Given the description of an element on the screen output the (x, y) to click on. 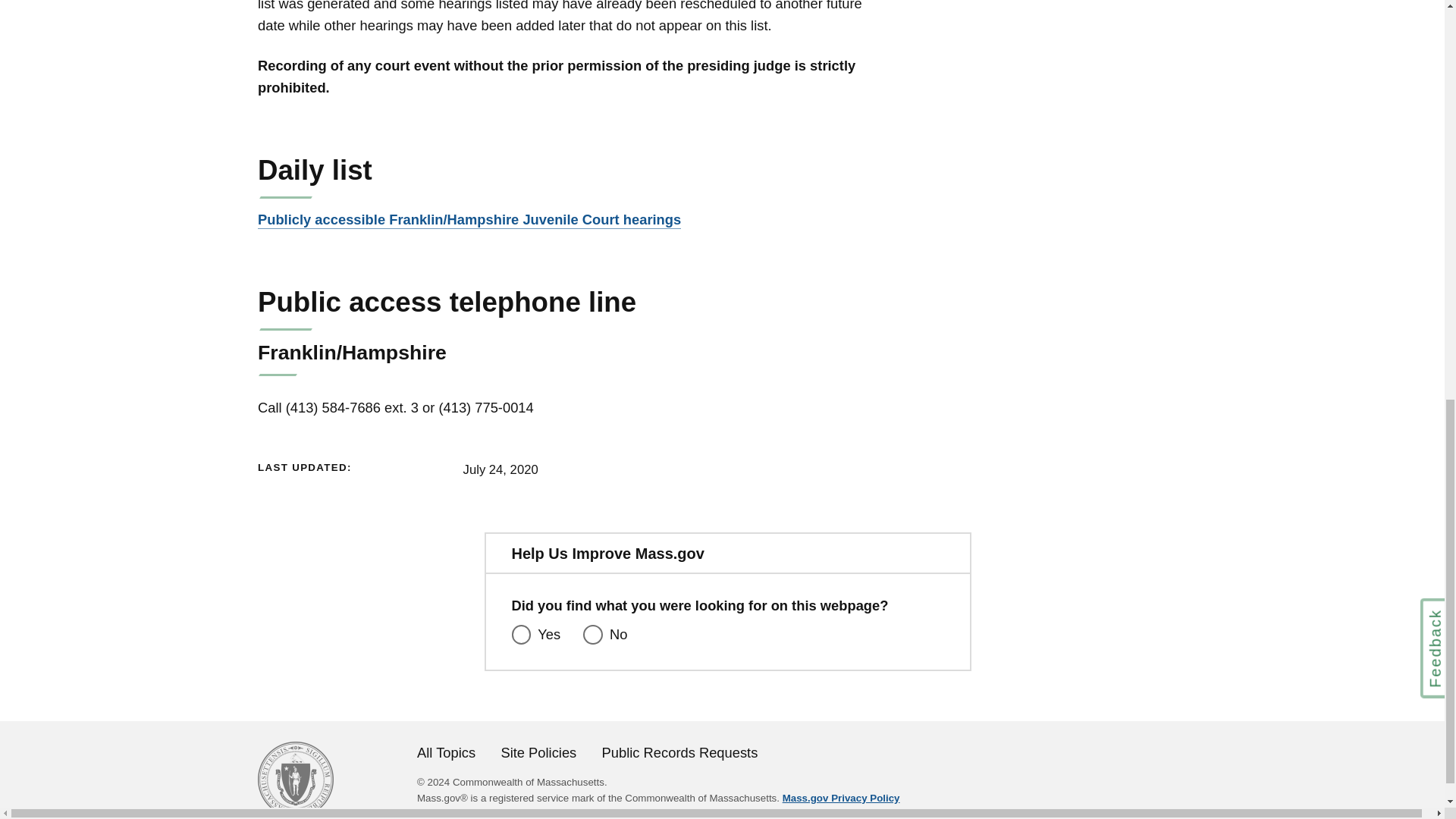
Mass.gov home page (295, 811)
